Given the description of an element on the screen output the (x, y) to click on. 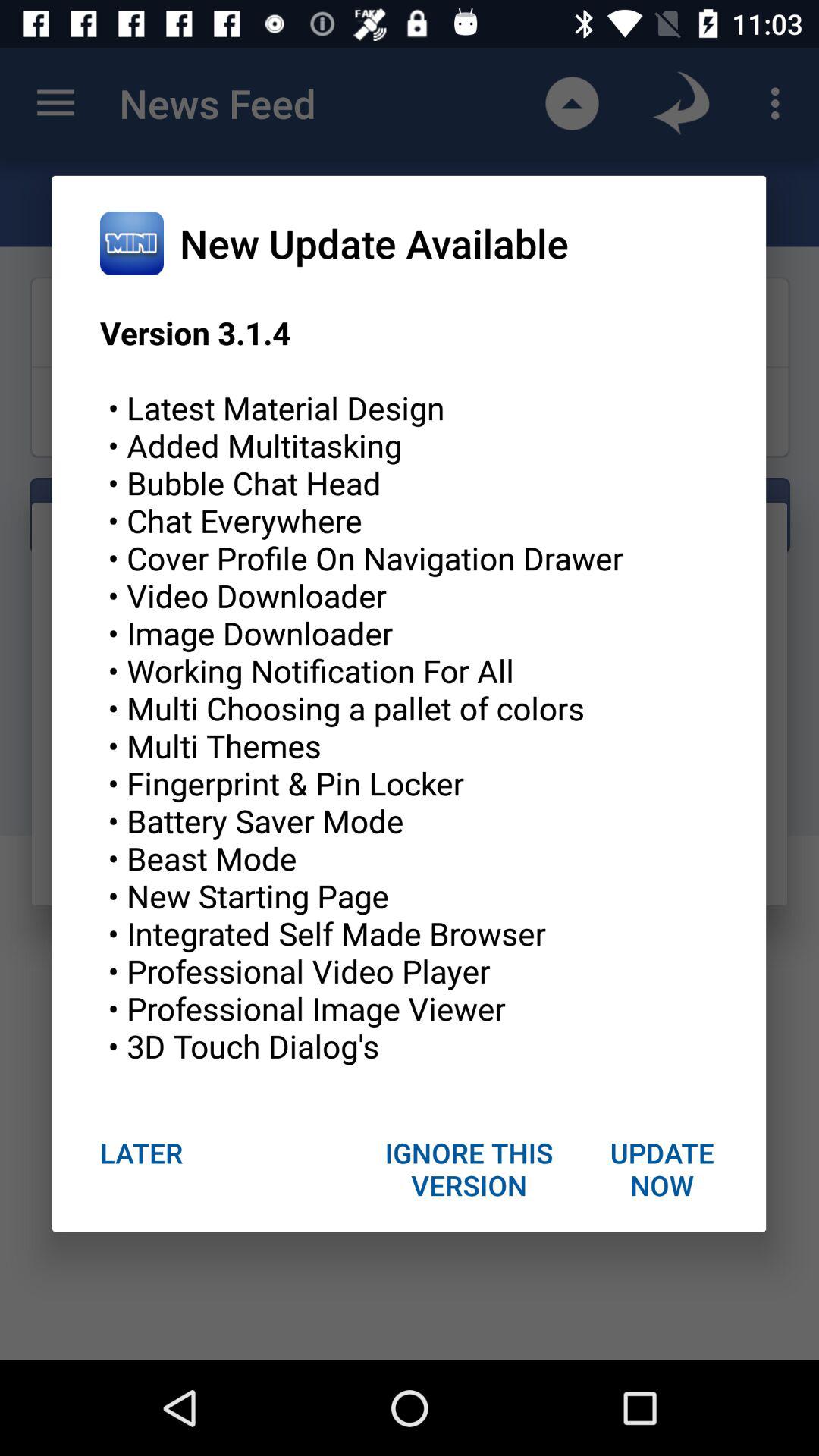
open the item next to the later (469, 1168)
